Given the description of an element on the screen output the (x, y) to click on. 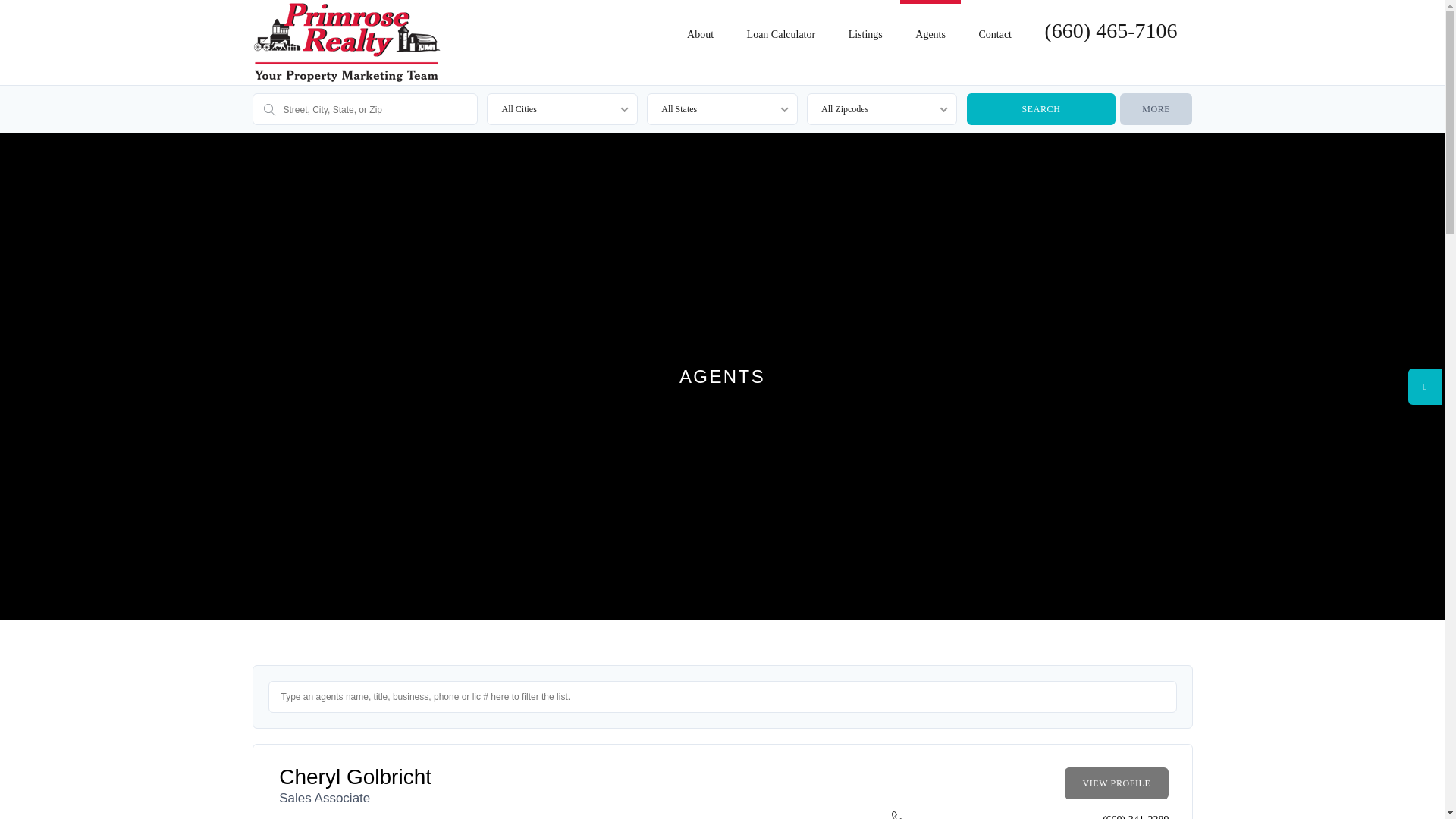
Search (1040, 109)
Agents (929, 26)
Submit (682, 807)
Contact (994, 26)
Cheryl Golbricht (354, 776)
Listings (865, 26)
Loan Calculator (781, 26)
VIEW PROFILE (1116, 783)
Search (1040, 109)
Cheryl Golbricht (354, 776)
About (700, 26)
